Given the description of an element on the screen output the (x, y) to click on. 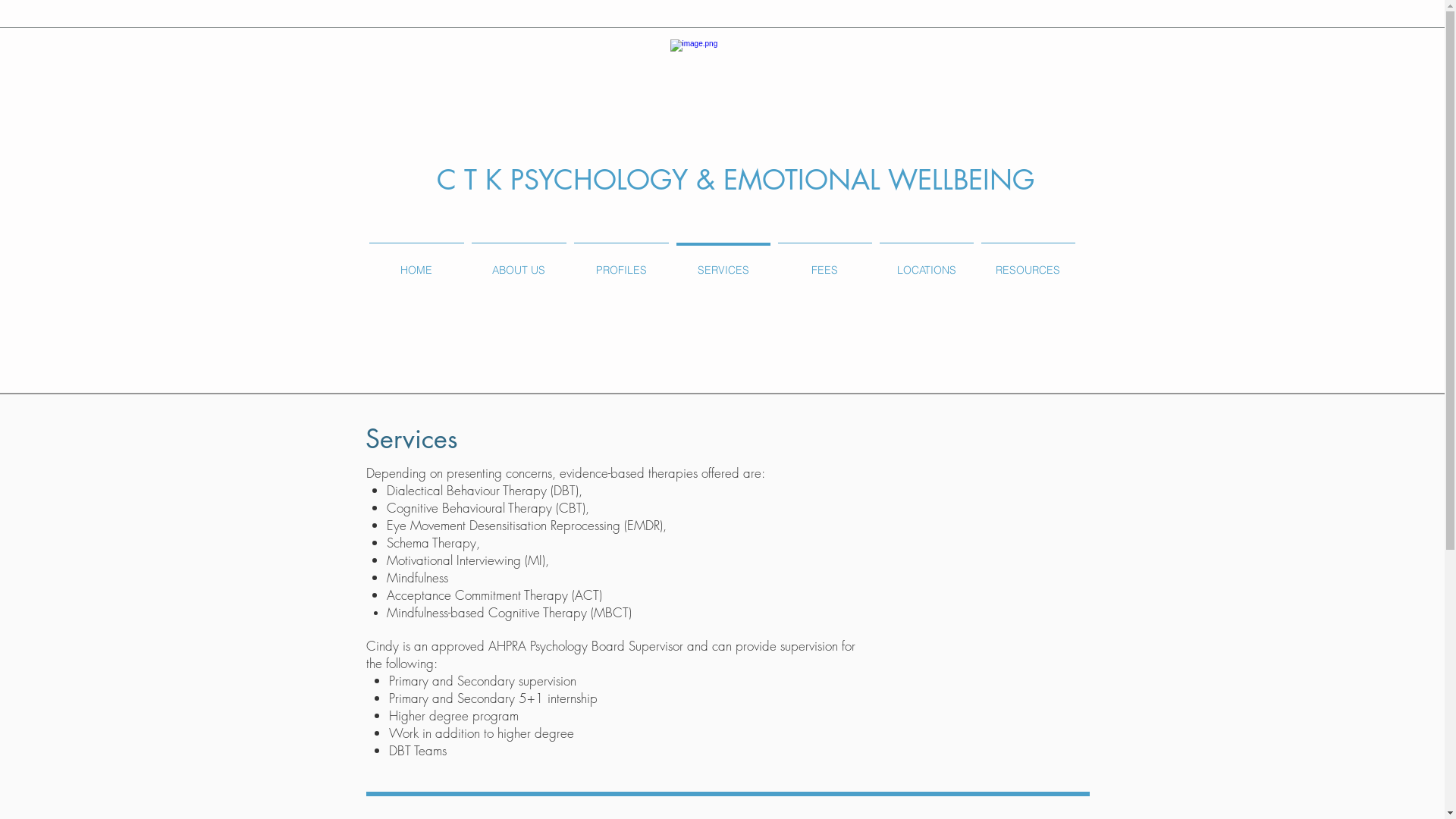
LOCATIONS Element type: text (925, 263)
ABOUT US Element type: text (518, 263)
C T K PSYCHOLOGY & EMOTIONAL WELLBEING Element type: text (735, 179)
RESOURCES Element type: text (1027, 263)
PROFILES Element type: text (621, 263)
SERVICES Element type: text (722, 263)
HOME Element type: text (416, 263)
FEES Element type: text (824, 263)
